Given the description of an element on the screen output the (x, y) to click on. 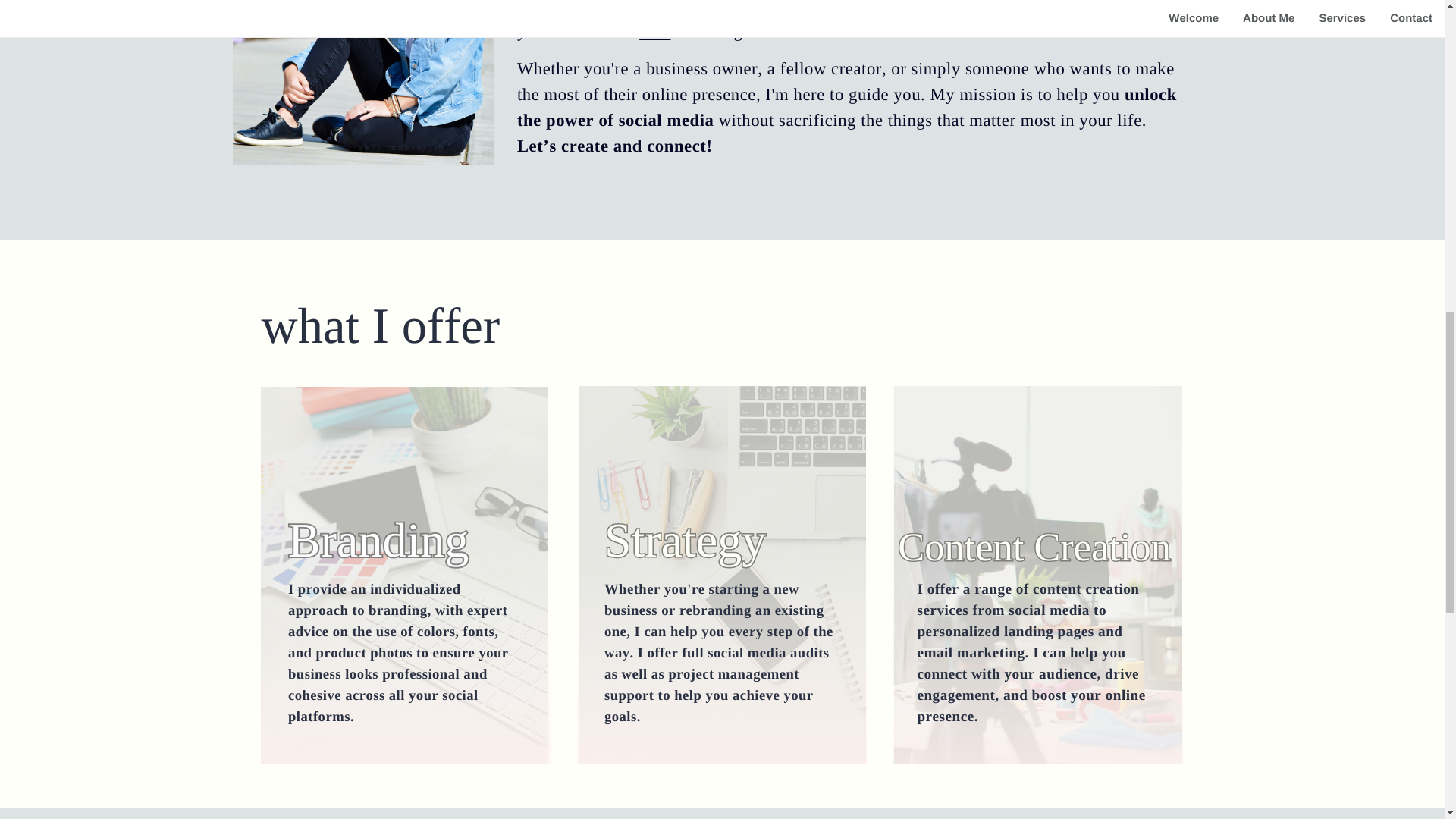
here (654, 30)
